Given the description of an element on the screen output the (x, y) to click on. 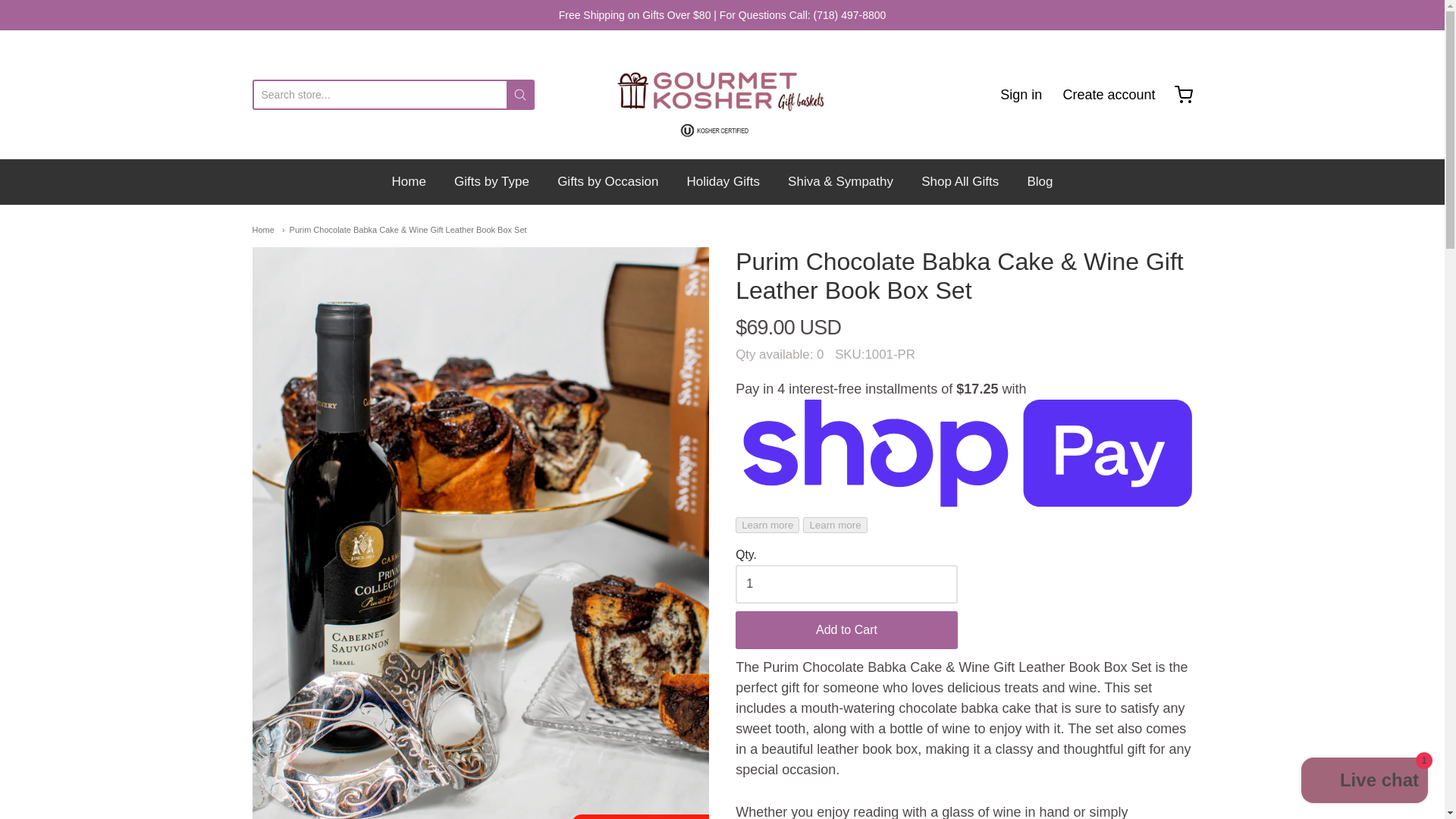
1 (846, 583)
Sign in (1021, 94)
Gourmet Kosher Gift Baskets (721, 94)
